Given the description of an element on the screen output the (x, y) to click on. 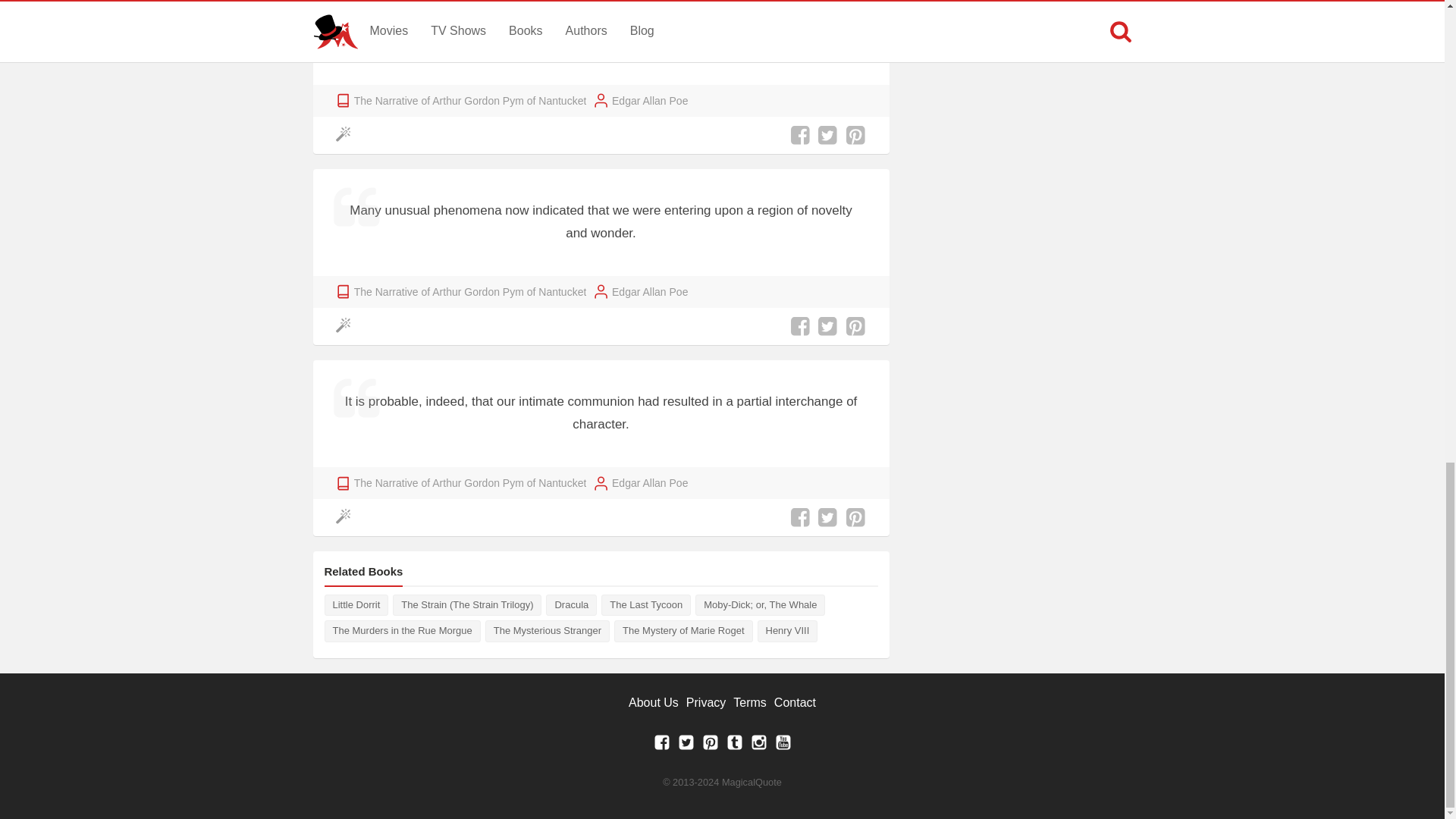
Edgar Allan Poe (649, 100)
Do Some Magic! (345, 135)
Do Some Magic! (345, 517)
Pinterest (710, 746)
My whole soul was pervaded with a longing to fall. (600, 42)
The Narrative of Arthur Gordon Pym of Nantucket (469, 100)
Facebook (661, 746)
Do Some Magic! (345, 326)
Twitter (686, 746)
